Given the description of an element on the screen output the (x, y) to click on. 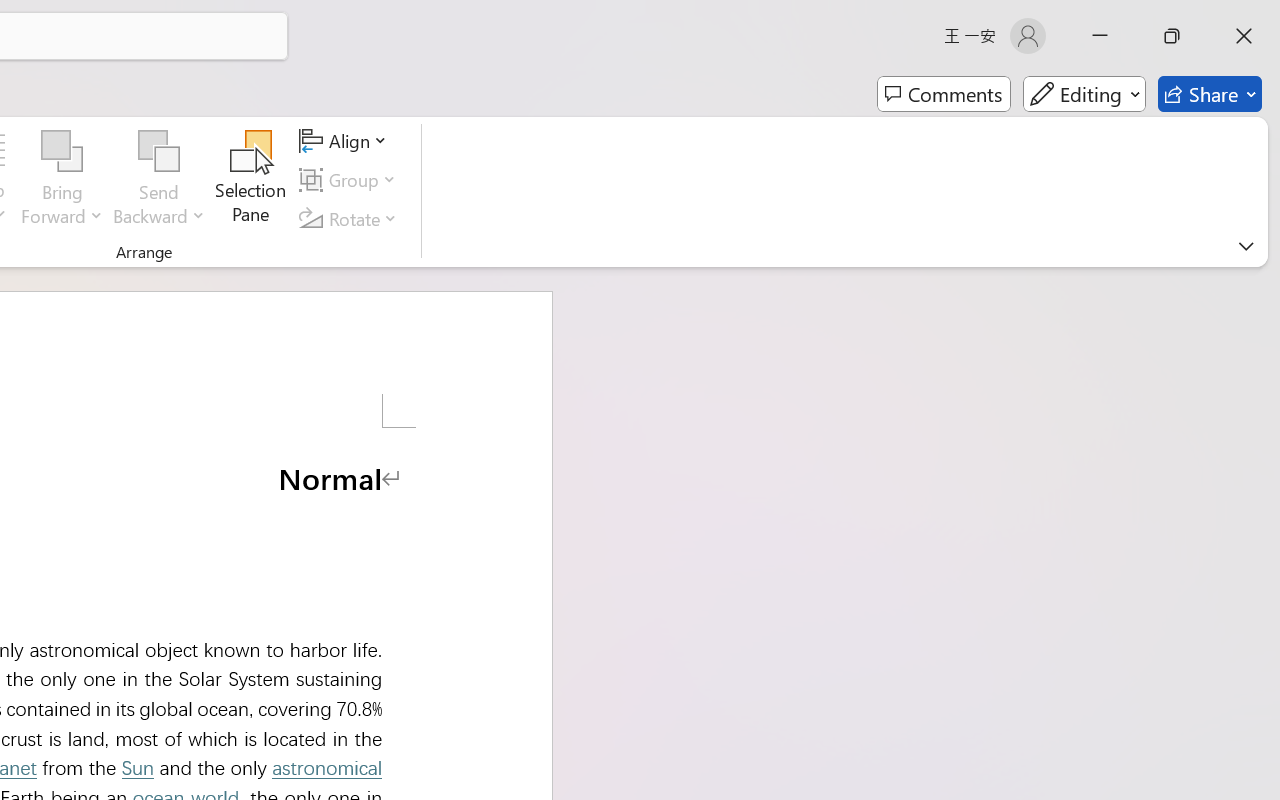
Bring Forward (62, 179)
Group (351, 179)
Bring Forward (62, 151)
Selection Pane... (251, 179)
Align (346, 141)
Send Backward (159, 179)
Sun (137, 768)
Rotate (351, 218)
